Given the description of an element on the screen output the (x, y) to click on. 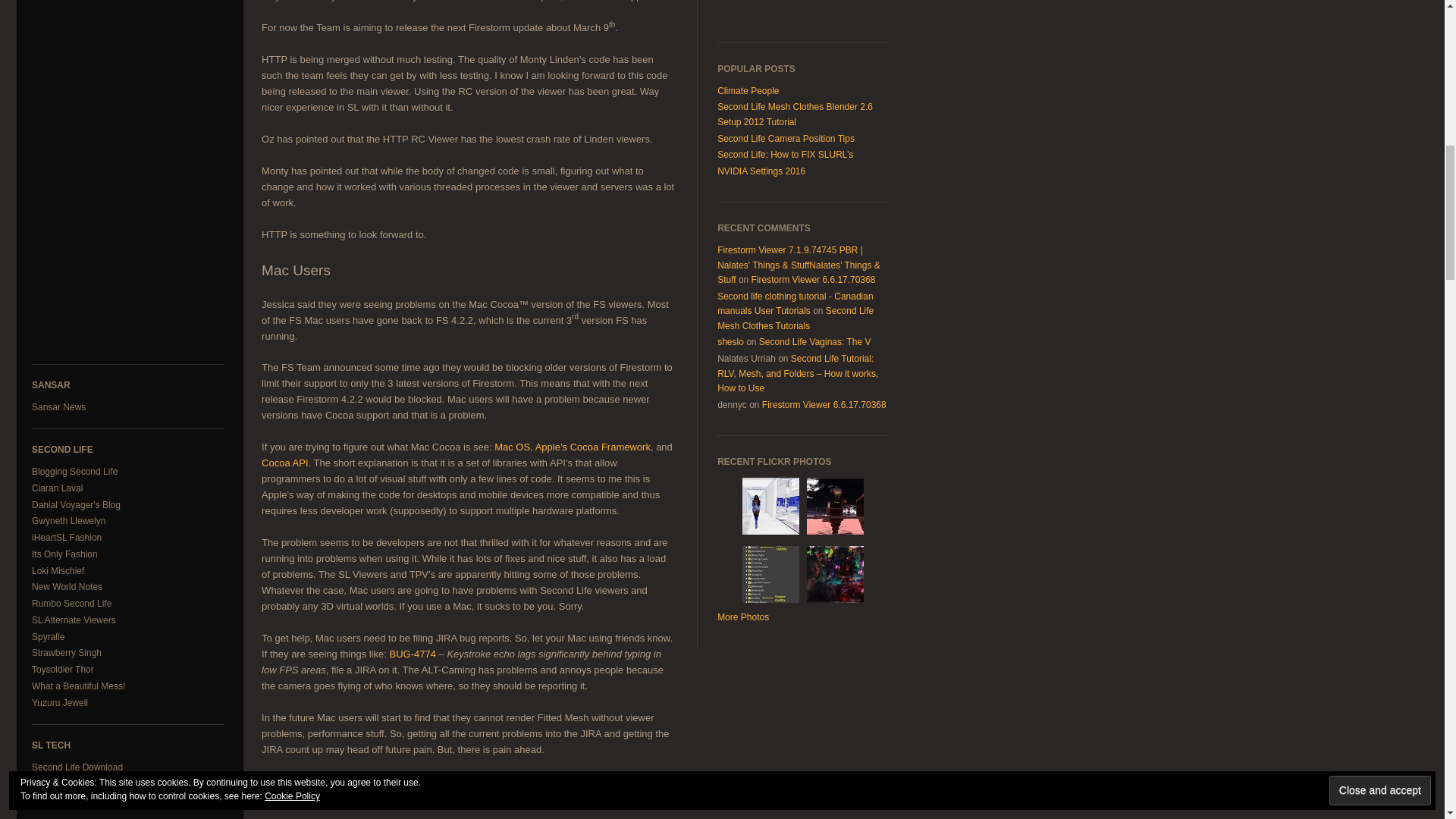
The unofficial Sansar News (58, 407)
Database of SL Blogs (74, 471)
JUST ANOTHER UNAUTHORISED VIRTUAL WORLD FANSITE (57, 488)
Blogging Second Life (74, 471)
In Depth Analysis of Second Life (68, 520)
Sansar News (58, 407)
Second Life Fashion and Stuff (66, 537)
